Given the description of an element on the screen output the (x, y) to click on. 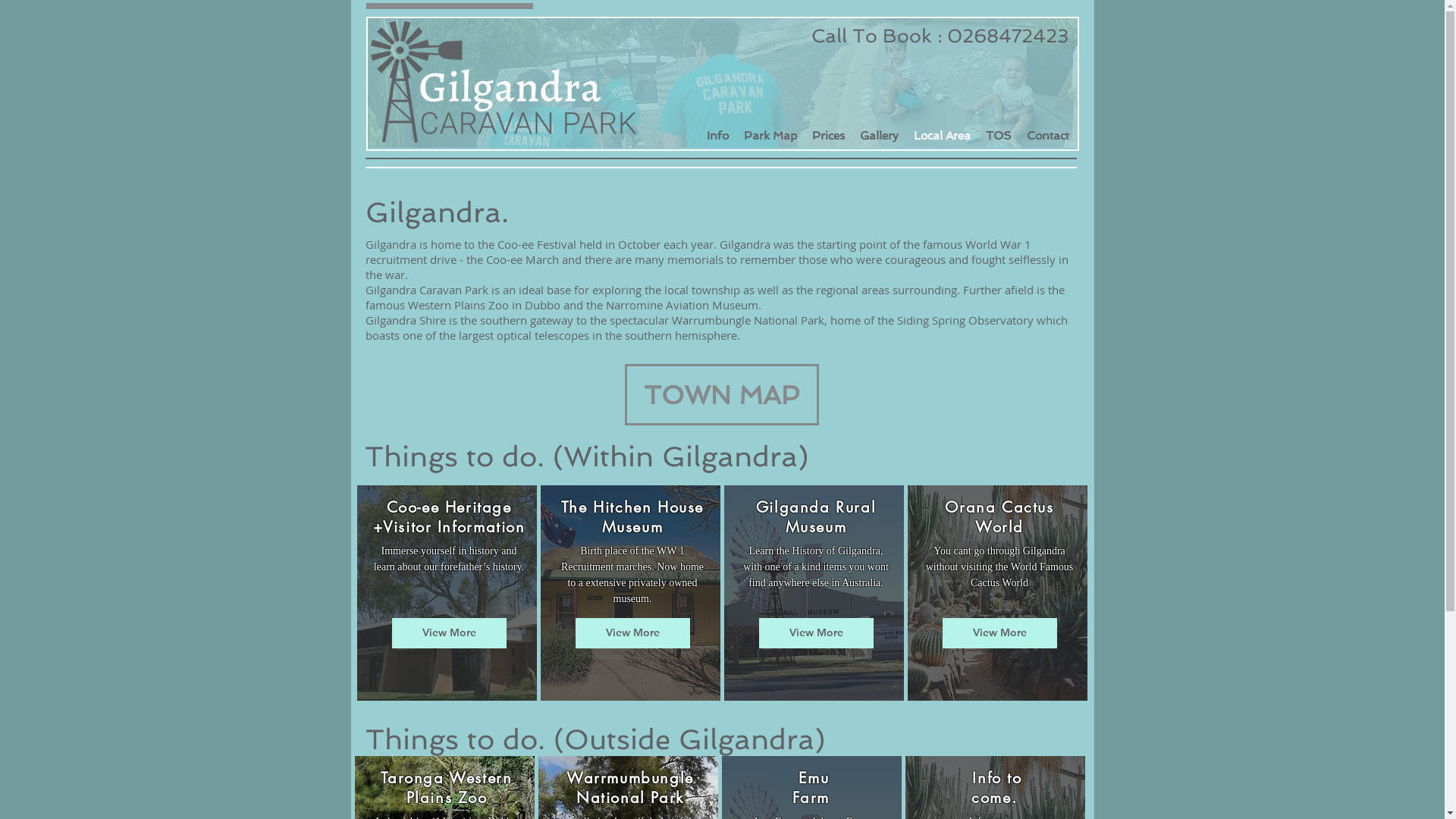
Local Area Element type: text (941, 135)
Park Map Element type: text (769, 135)
Info Element type: text (717, 135)
Prices Element type: text (827, 135)
View More Element type: text (631, 633)
View More Element type: text (448, 633)
View More Element type: text (815, 633)
Gallery Element type: text (879, 135)
TOS Element type: text (998, 135)
View More Element type: text (998, 633)
TOWN MAP Element type: text (721, 394)
Contact Element type: text (1047, 135)
